Given the description of an element on the screen output the (x, y) to click on. 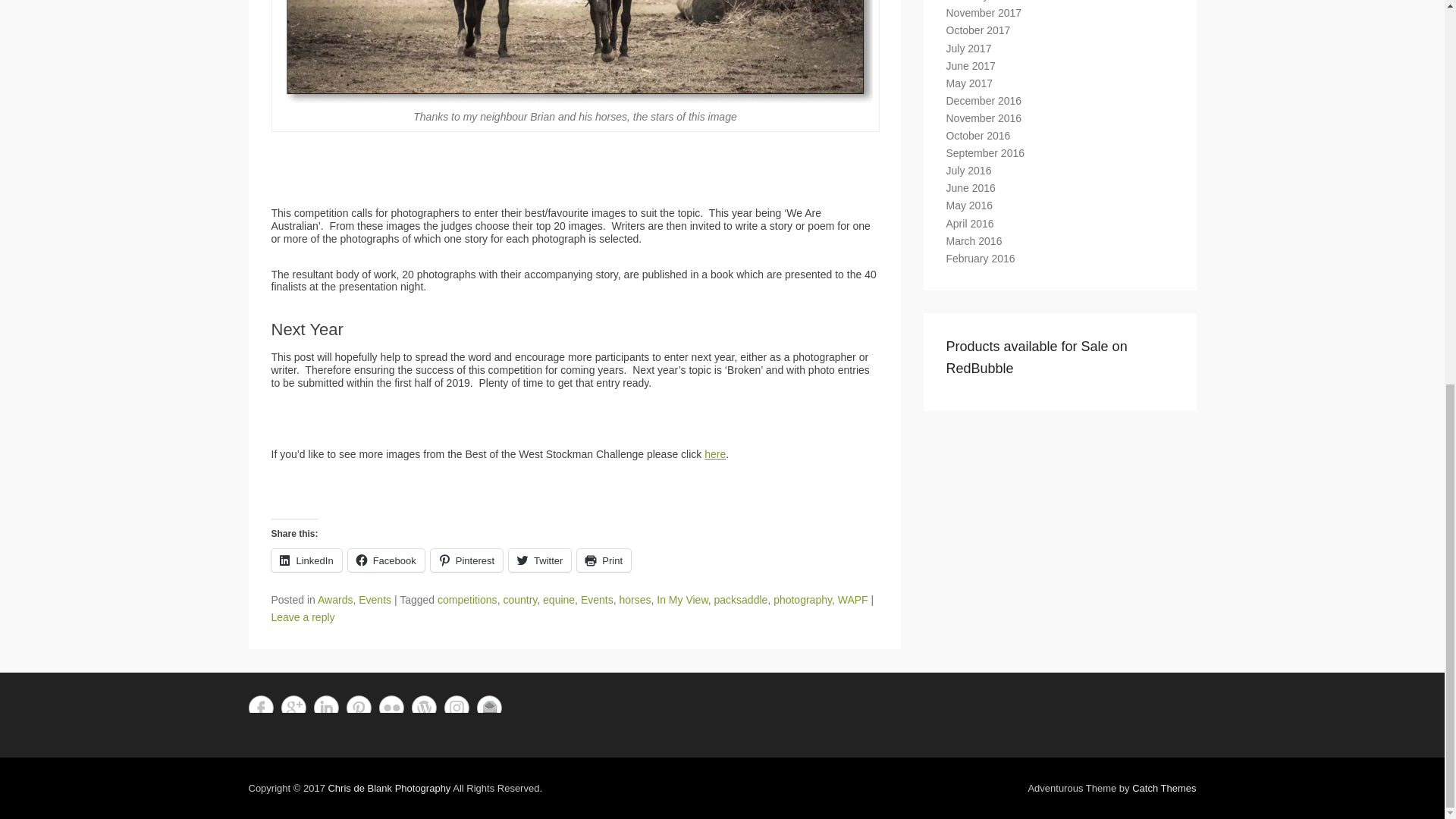
Click to print (603, 559)
Click to share on Twitter (539, 559)
Click to share on LinkedIn (306, 559)
Click to share on Pinterest (466, 559)
Click to share on Facebook (386, 559)
Packsaddle Event at Best of the West Stockman Challenge 2018 (575, 51)
